Given the description of an element on the screen output the (x, y) to click on. 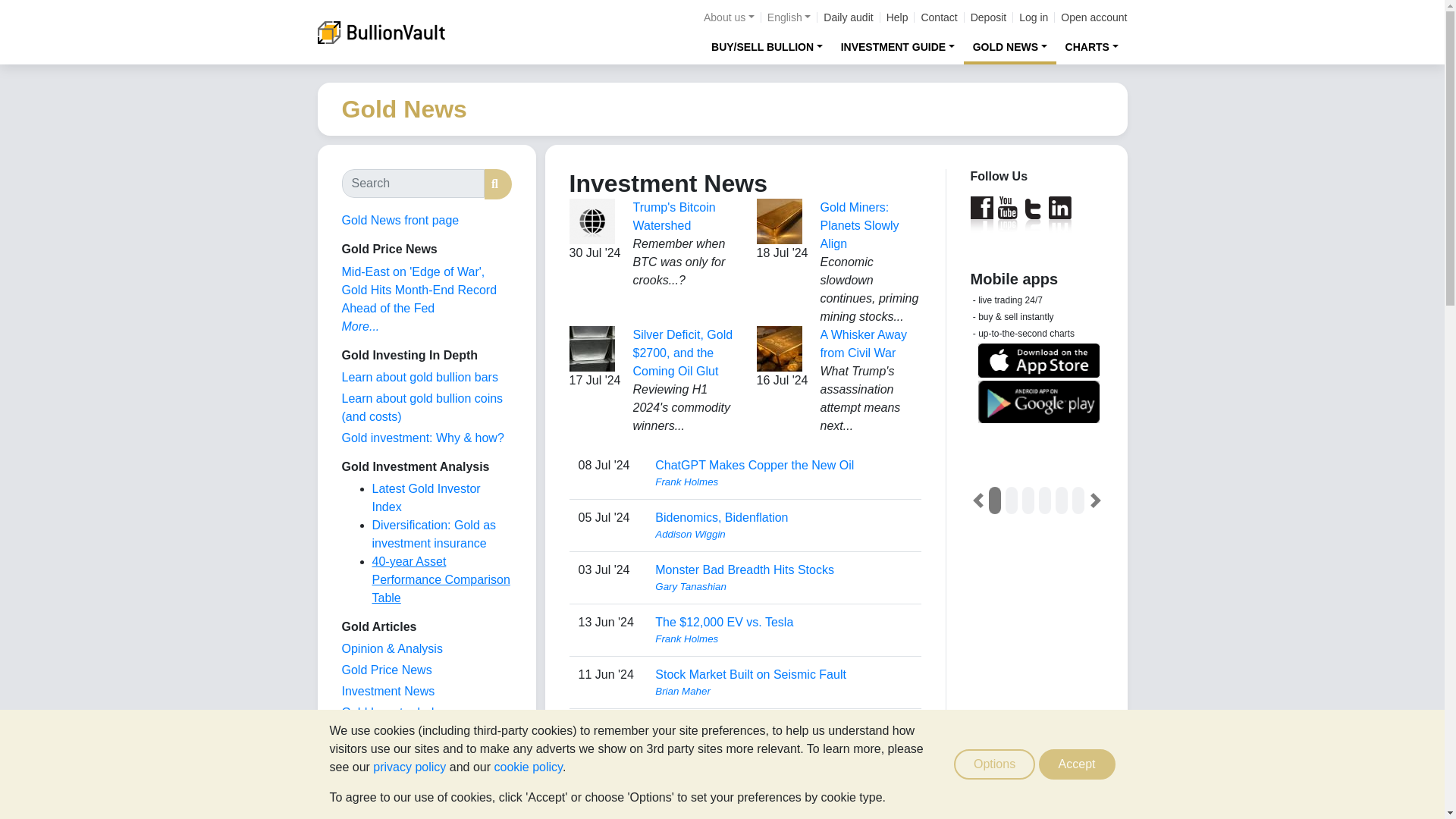
View user profile. (783, 586)
View user profile. (783, 482)
Contact (938, 17)
Gold Price News (385, 669)
Accept (1077, 764)
Gold Investor Index (393, 712)
Gold Infographics (387, 733)
Gold in History (380, 775)
Deposit (988, 17)
Open account (1093, 17)
View user profile. (783, 743)
Investment News (386, 690)
privacy policy (408, 766)
Books about Gold Reviewed (372, 797)
Log in (1033, 17)
